Given the description of an element on the screen output the (x, y) to click on. 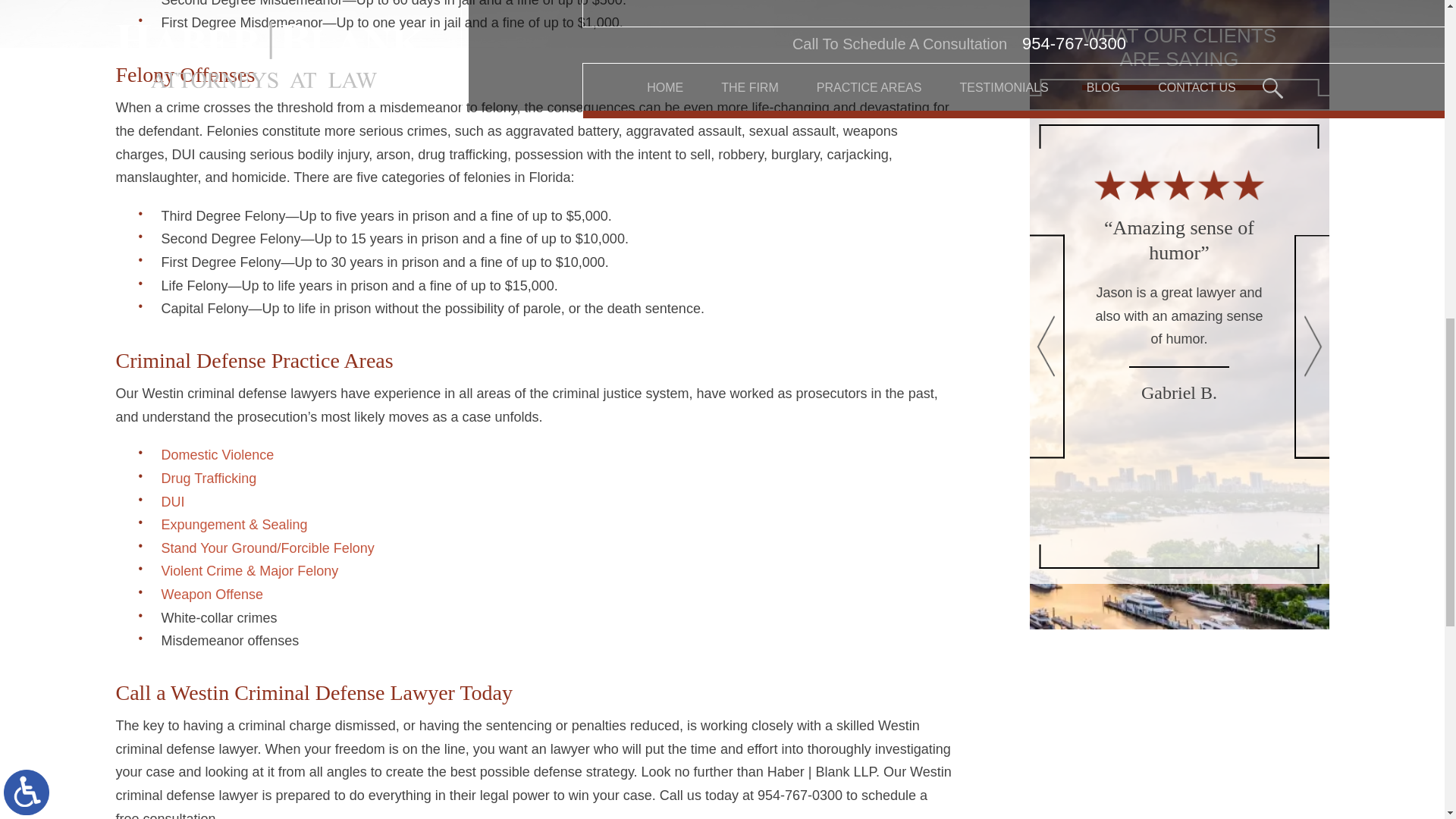
DUI (172, 501)
Domestic Violence (216, 454)
Drug Trafficking (208, 478)
